Given the description of an element on the screen output the (x, y) to click on. 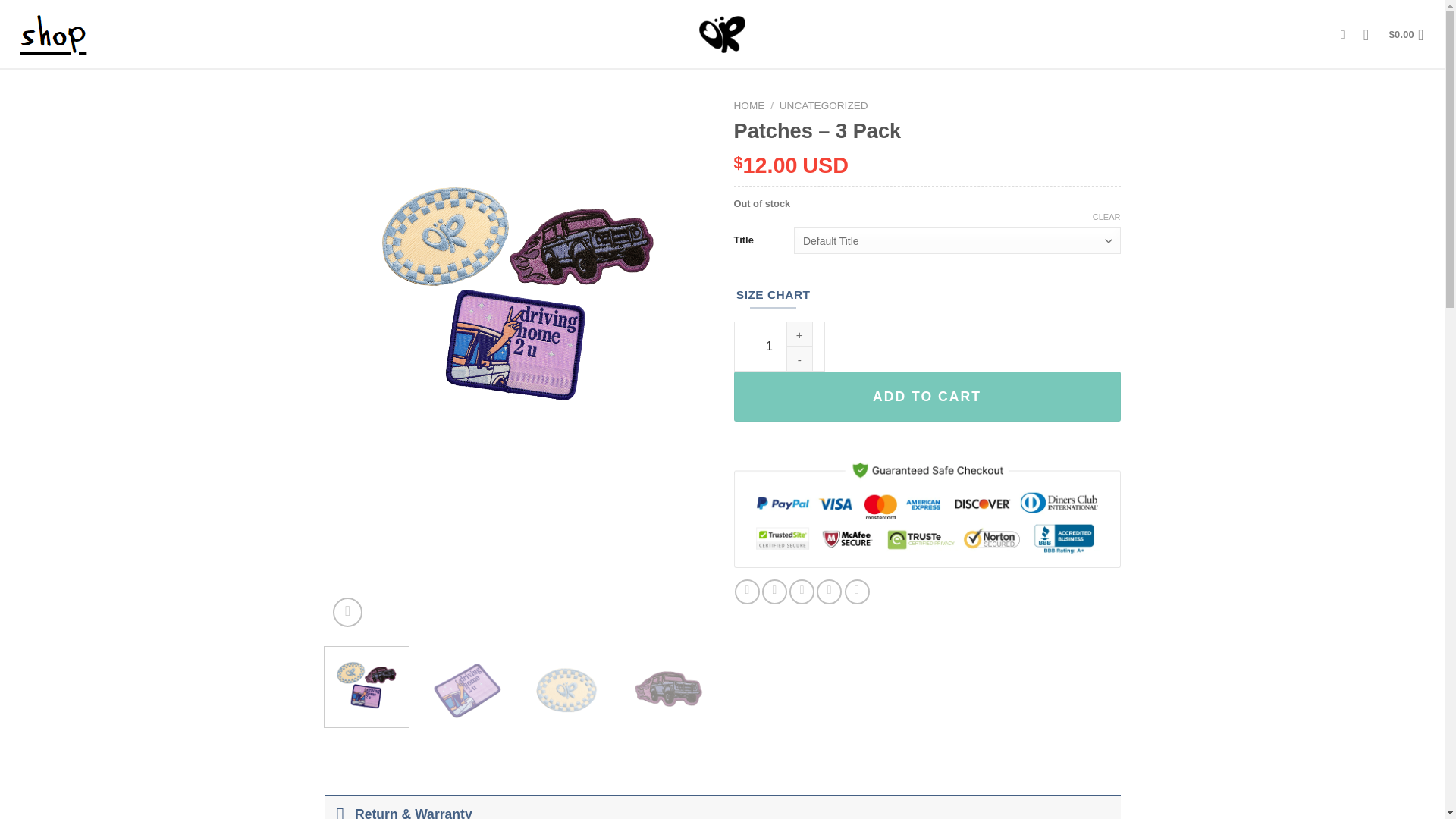
Cart (1410, 34)
CLEAR (1107, 216)
Share on Facebook (747, 591)
Qty (779, 346)
UNCATEGORIZED (822, 105)
- (799, 358)
Zoom (347, 612)
ADD TO CART (927, 396)
Olivia Rodrigo Shop Official (721, 33)
HOME (749, 105)
1 (779, 346)
SIZE CHART (772, 294)
